Given the description of an element on the screen output the (x, y) to click on. 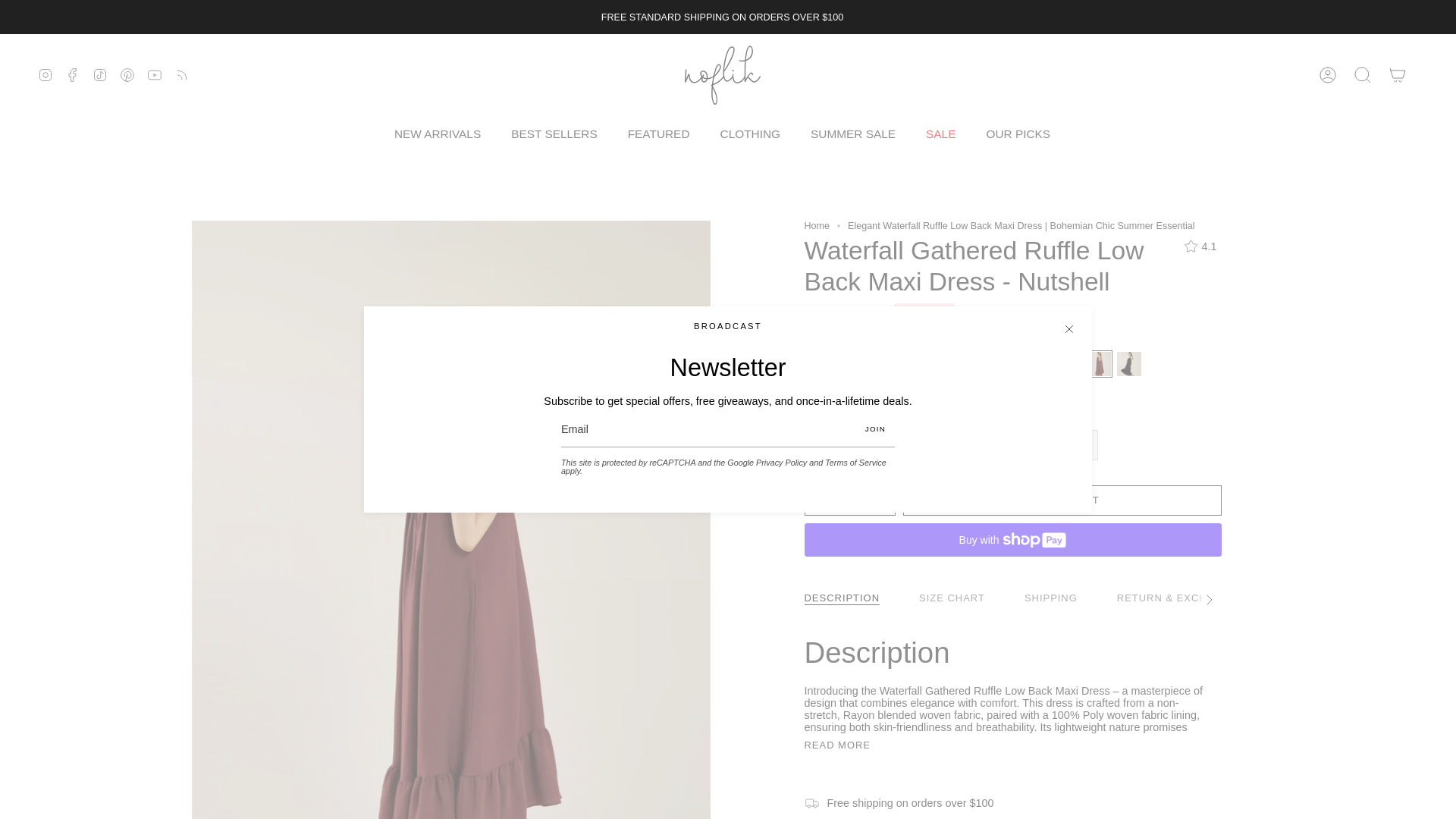
FEATURED (658, 134)
CLOTHING (750, 134)
BEST SELLERS (553, 134)
NEW ARRIVALS (437, 134)
